Given the description of an element on the screen output the (x, y) to click on. 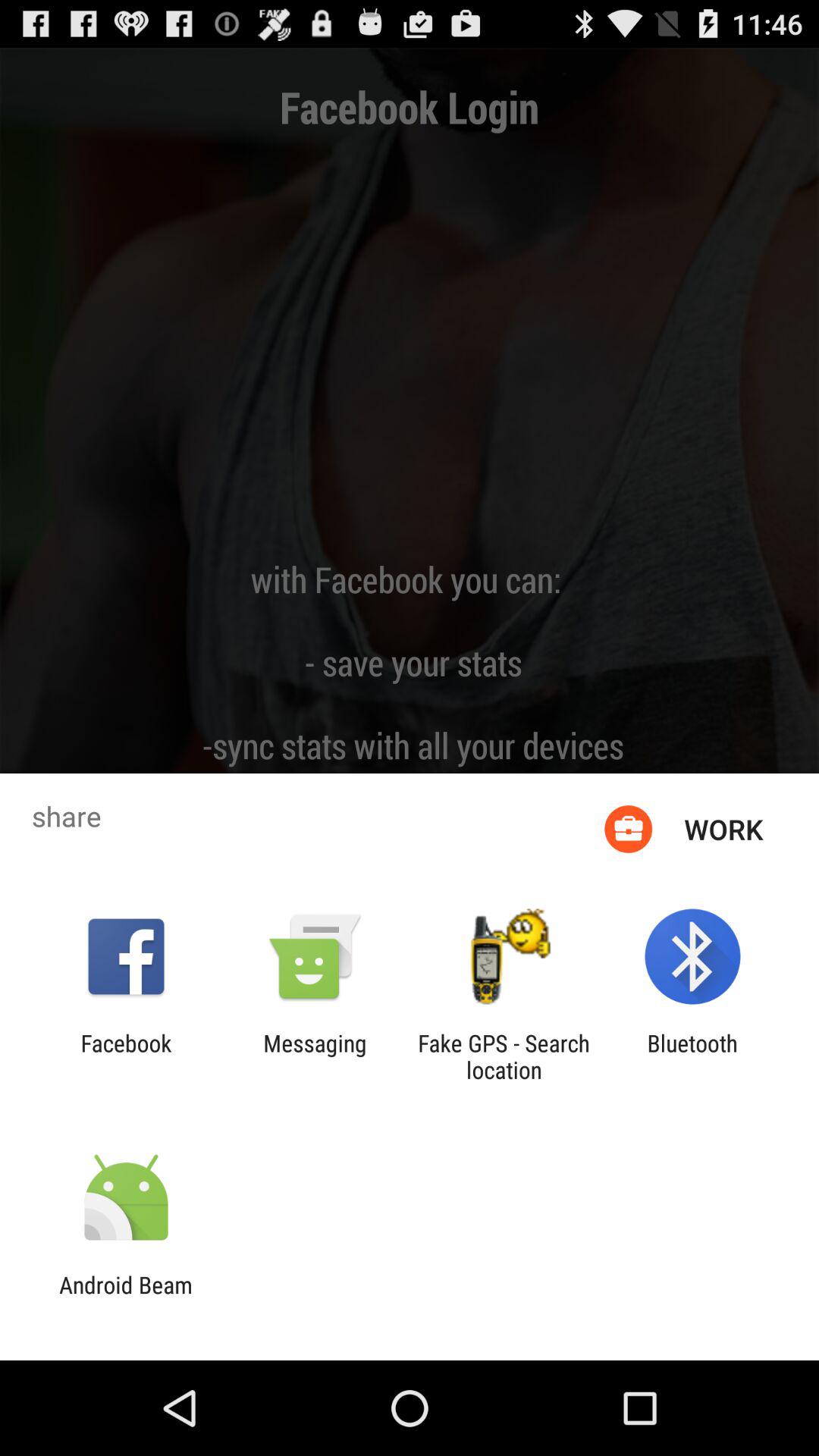
flip to the android beam icon (125, 1298)
